Given the description of an element on the screen output the (x, y) to click on. 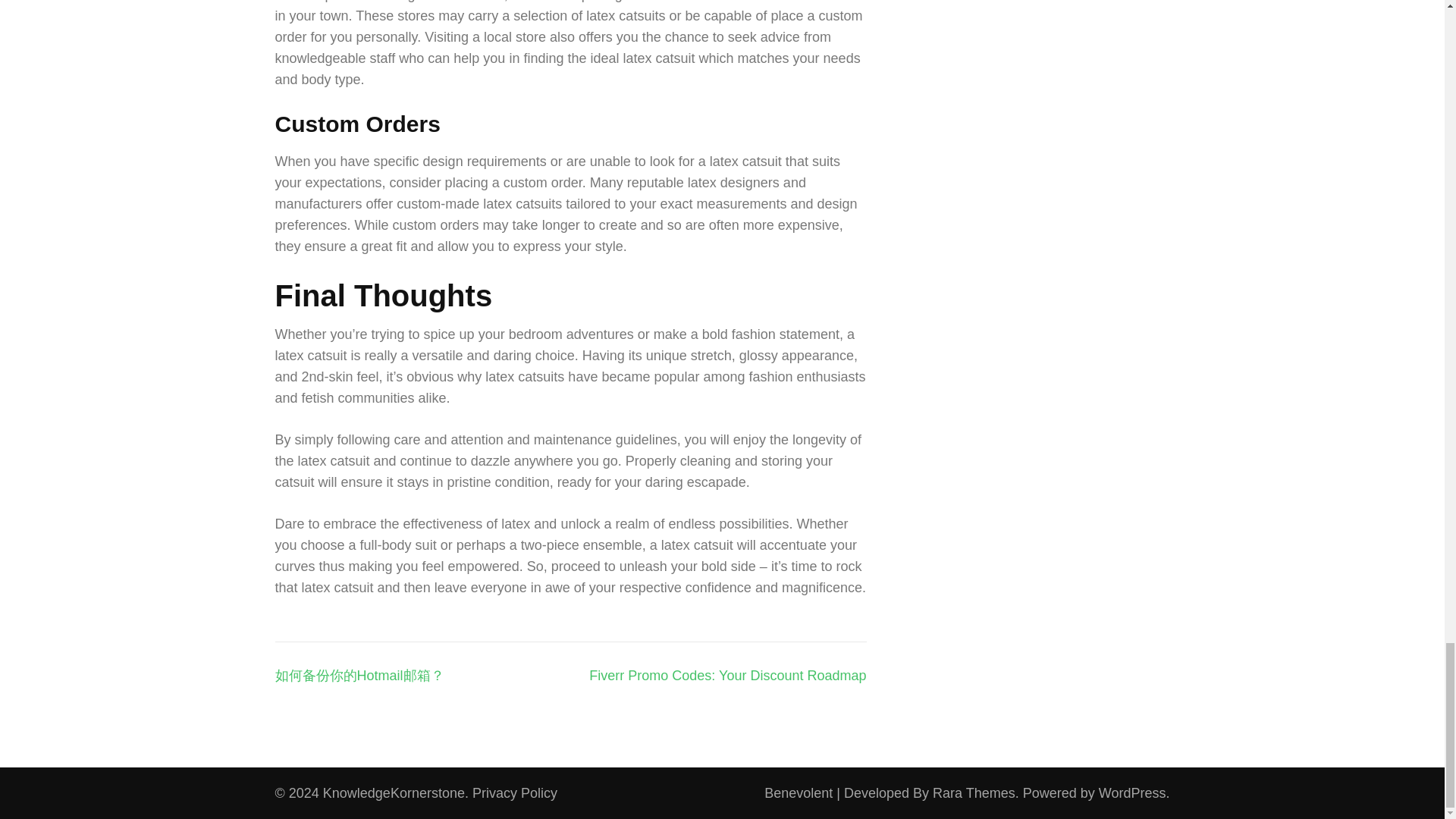
Fiverr Promo Codes: Your Discount Roadmap (727, 674)
